Given the description of an element on the screen output the (x, y) to click on. 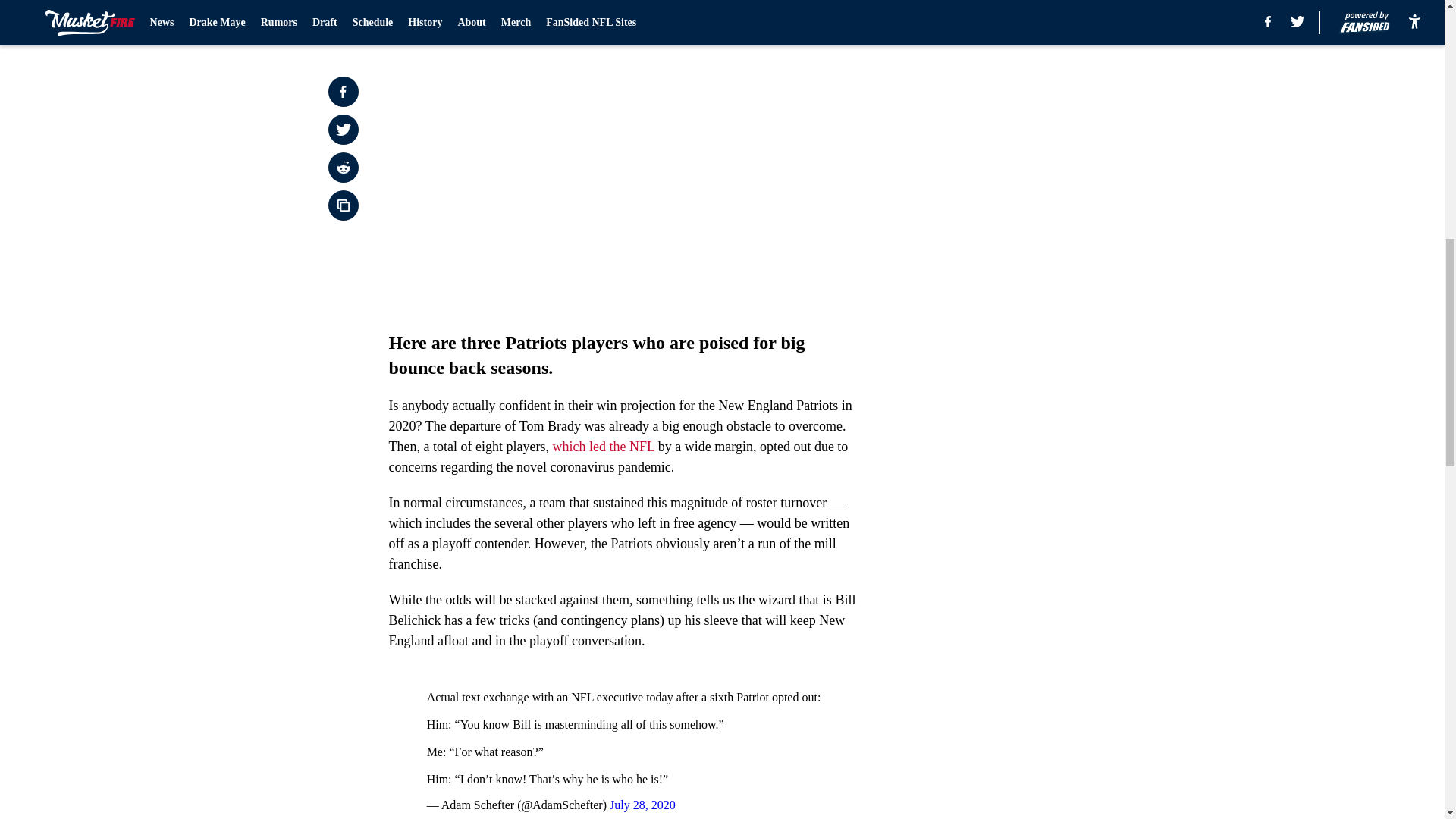
which led the NFL (602, 446)
Prev (433, 20)
July 28, 2020 (642, 804)
Next (813, 20)
